Given the description of an element on the screen output the (x, y) to click on. 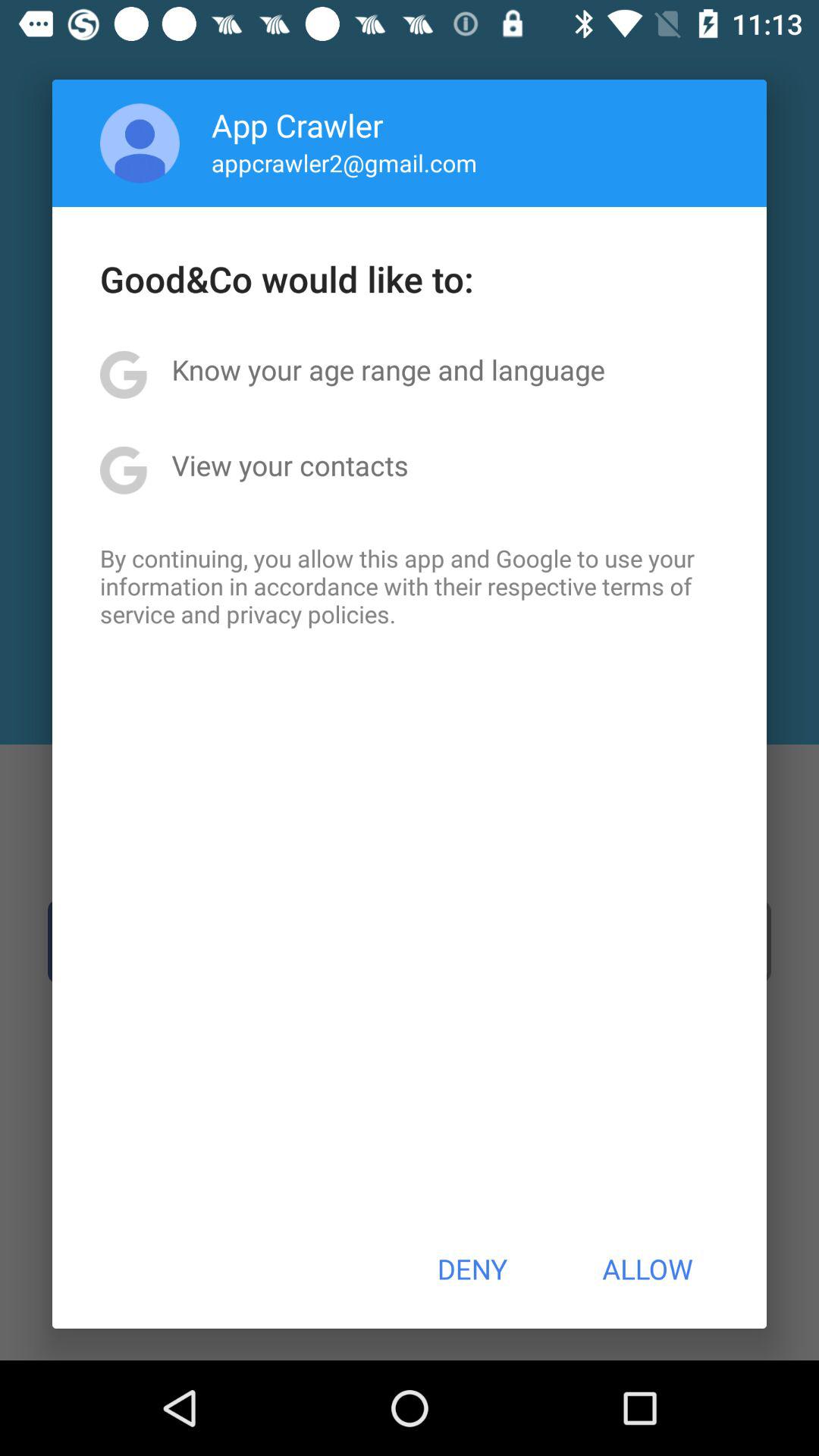
launch view your contacts item (289, 465)
